Given the description of an element on the screen output the (x, y) to click on. 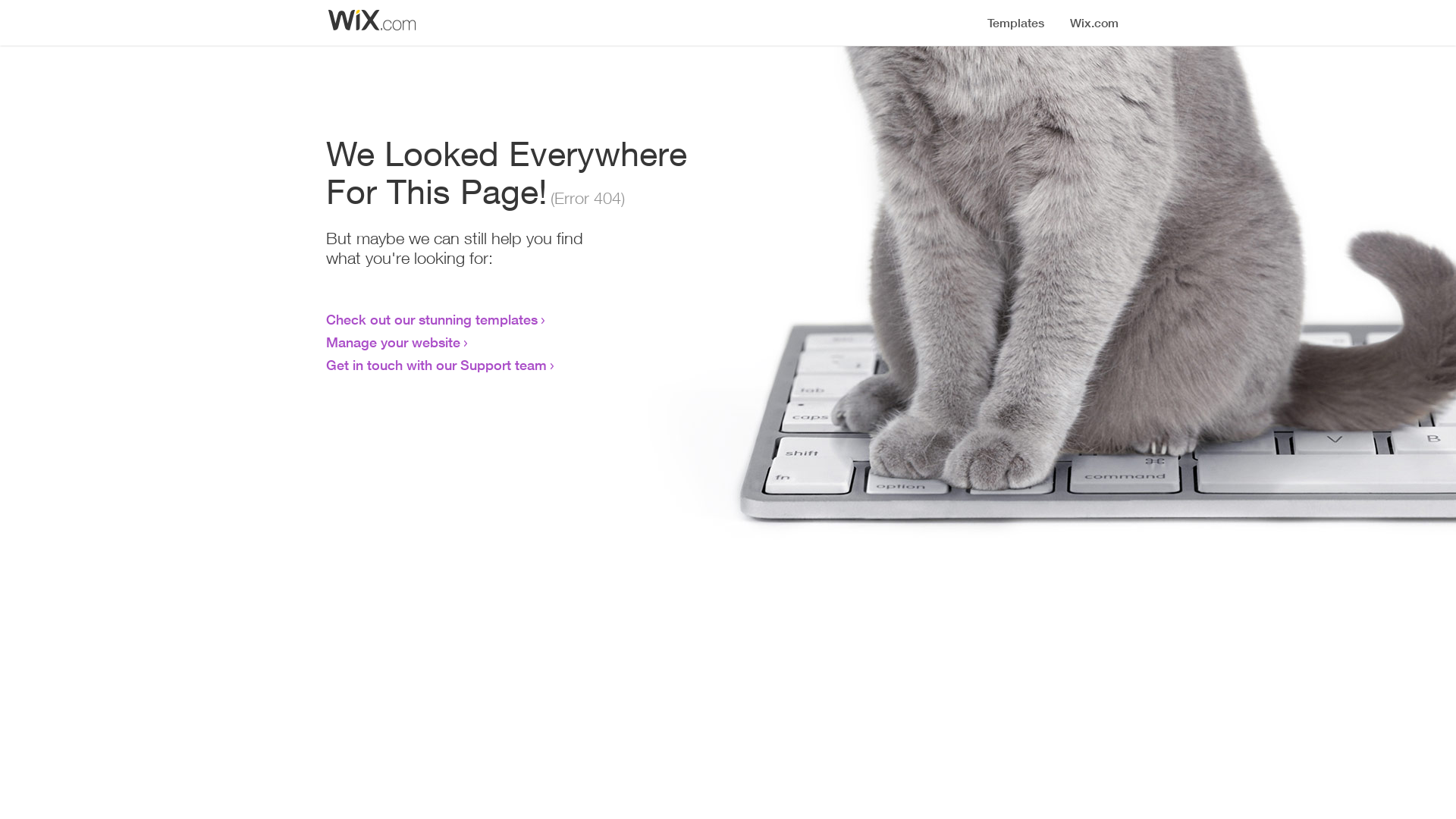
Get in touch with our Support team Element type: text (436, 364)
Check out our stunning templates Element type: text (431, 318)
Manage your website Element type: text (393, 341)
